Given the description of an element on the screen output the (x, y) to click on. 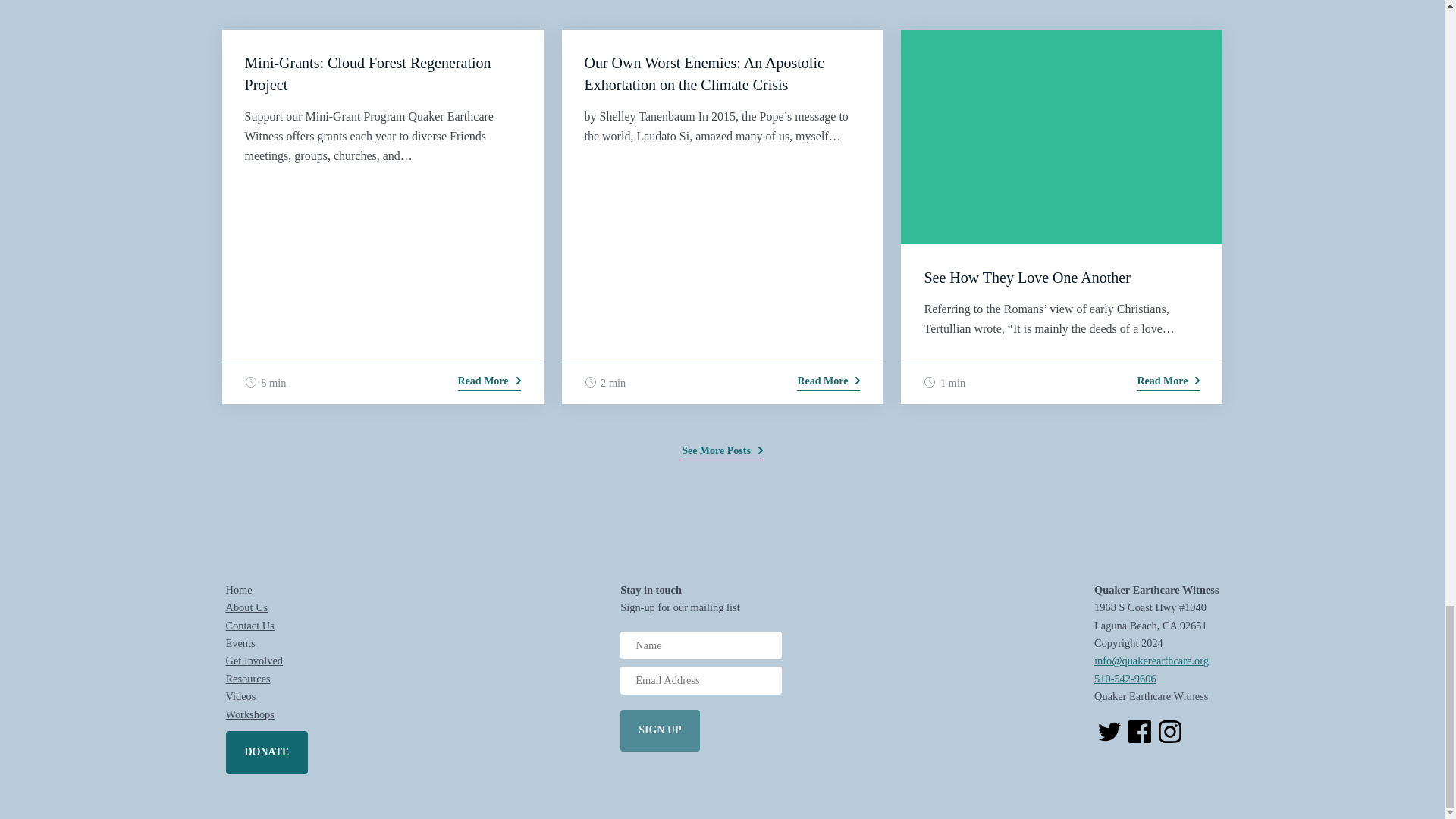
About Us (246, 607)
Home (238, 589)
QEW Email (1151, 660)
See More Posts (721, 451)
Instagram (1169, 731)
Read More (489, 383)
Read More (828, 383)
Twitter (1109, 731)
Sign Up (659, 730)
QEW Phone Number (1125, 678)
Contact Us (250, 625)
Facebook (1139, 731)
Read More (1168, 383)
